Given the description of an element on the screen output the (x, y) to click on. 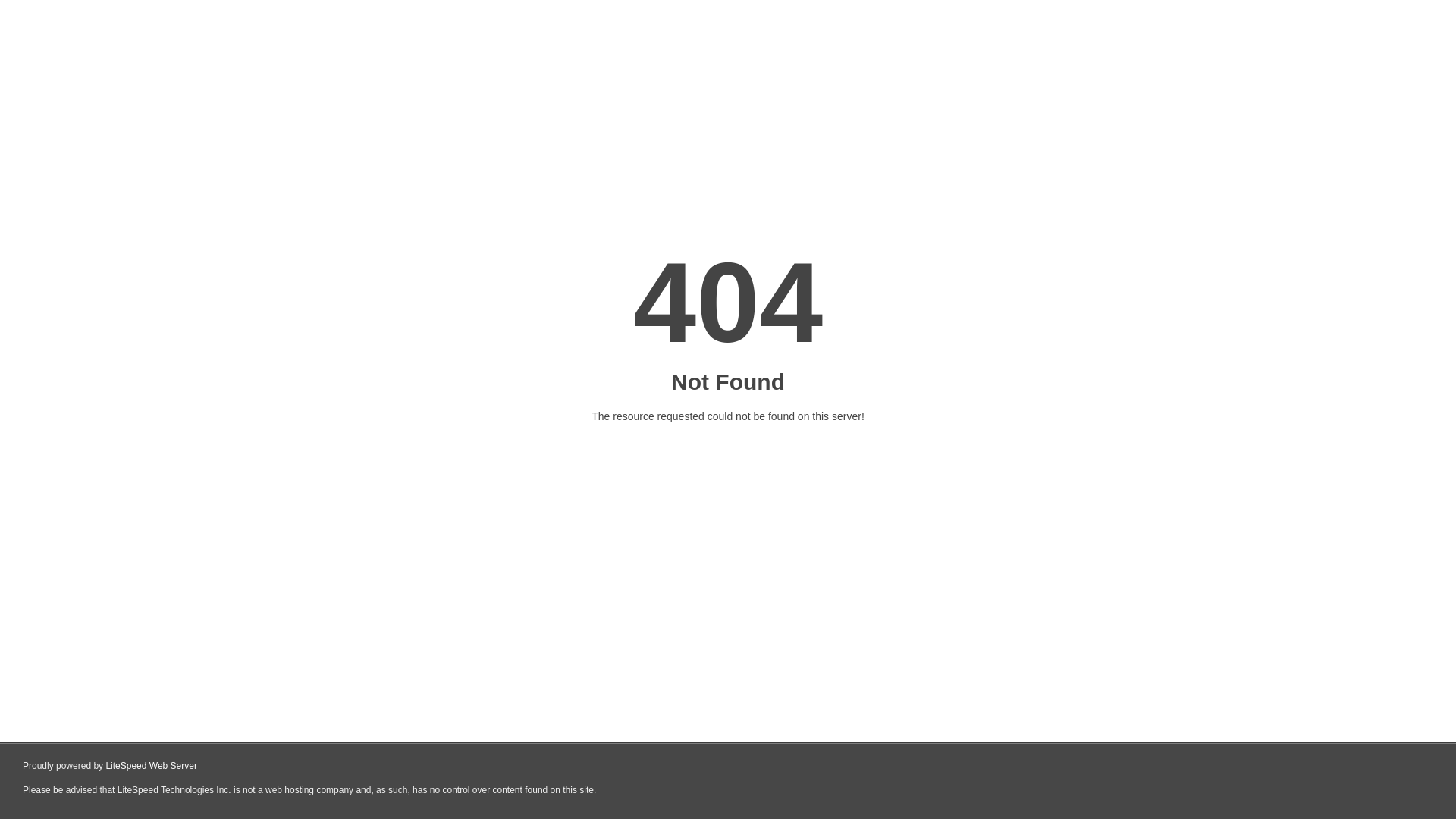
LiteSpeed Web Server Element type: text (151, 765)
